Given the description of an element on the screen output the (x, y) to click on. 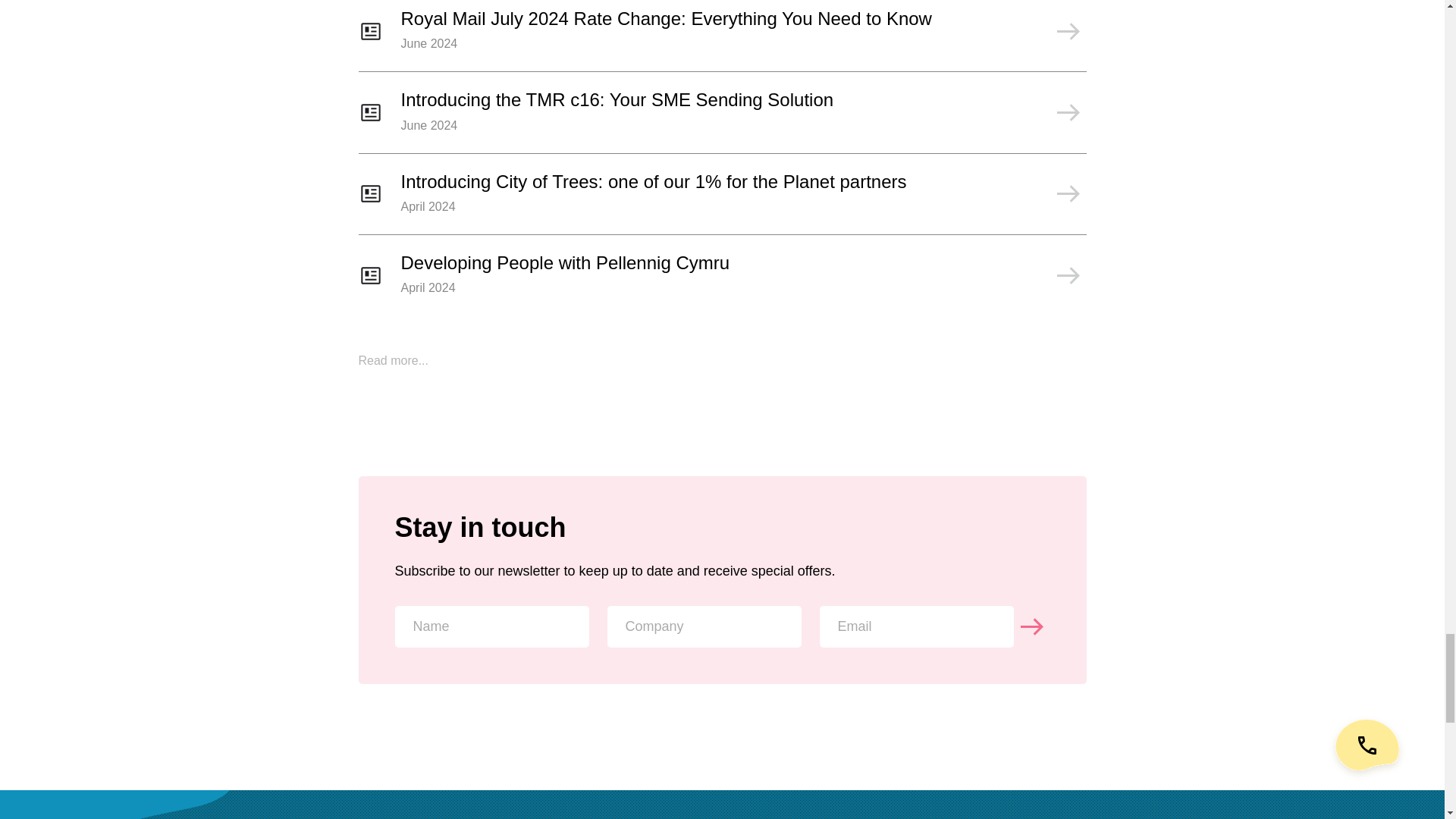
Introducing the TMR c16: Your SME Sending Solution (722, 121)
View all posts (393, 359)
Developing People with Pellennig Cymru (722, 284)
